Given the description of an element on the screen output the (x, y) to click on. 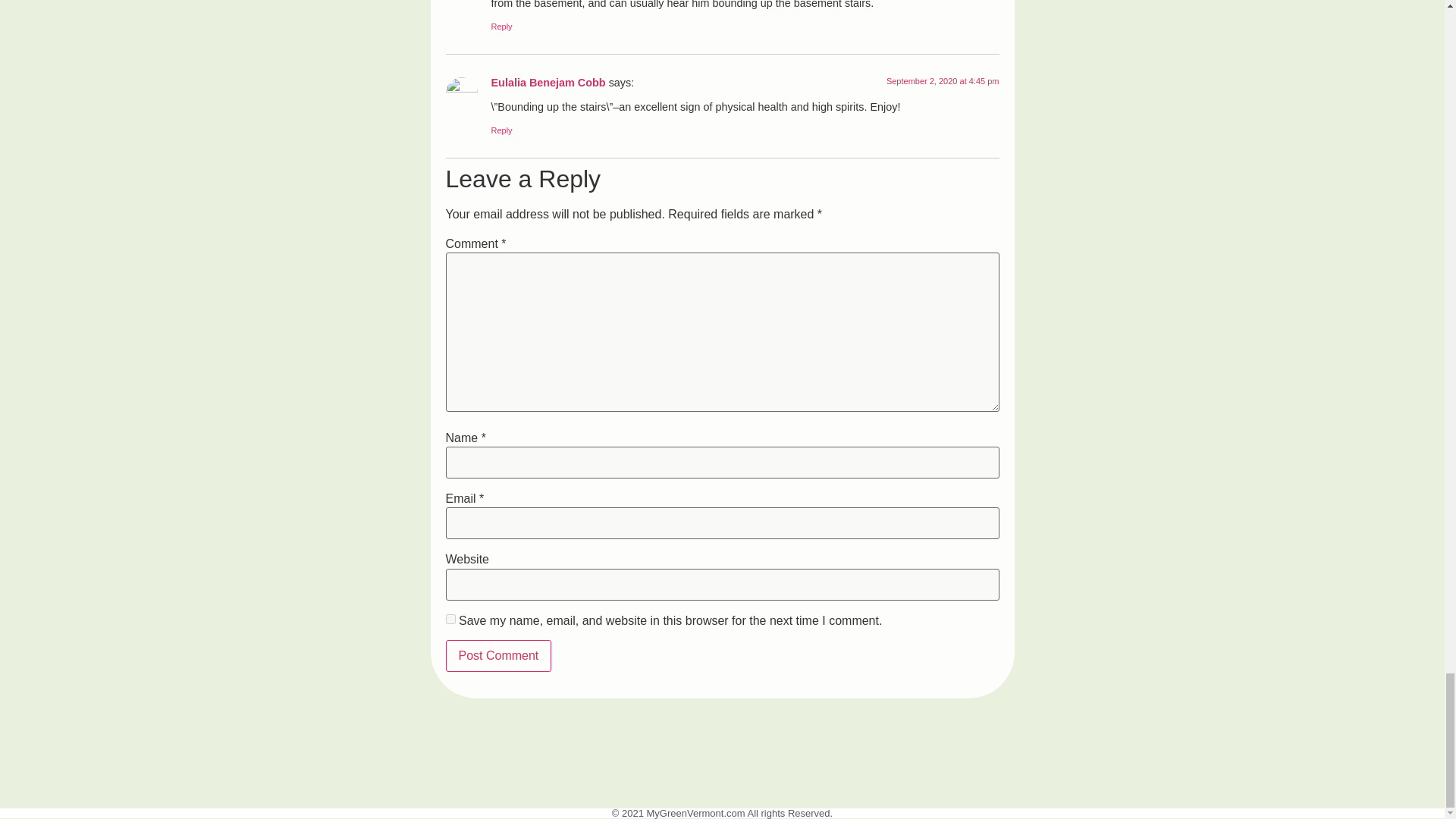
Reply (502, 130)
Eulalia Benejam Cobb (548, 82)
Post Comment (498, 655)
yes (450, 619)
Reply (502, 26)
September 2, 2020 at 4:45 pm (942, 80)
